Given the description of an element on the screen output the (x, y) to click on. 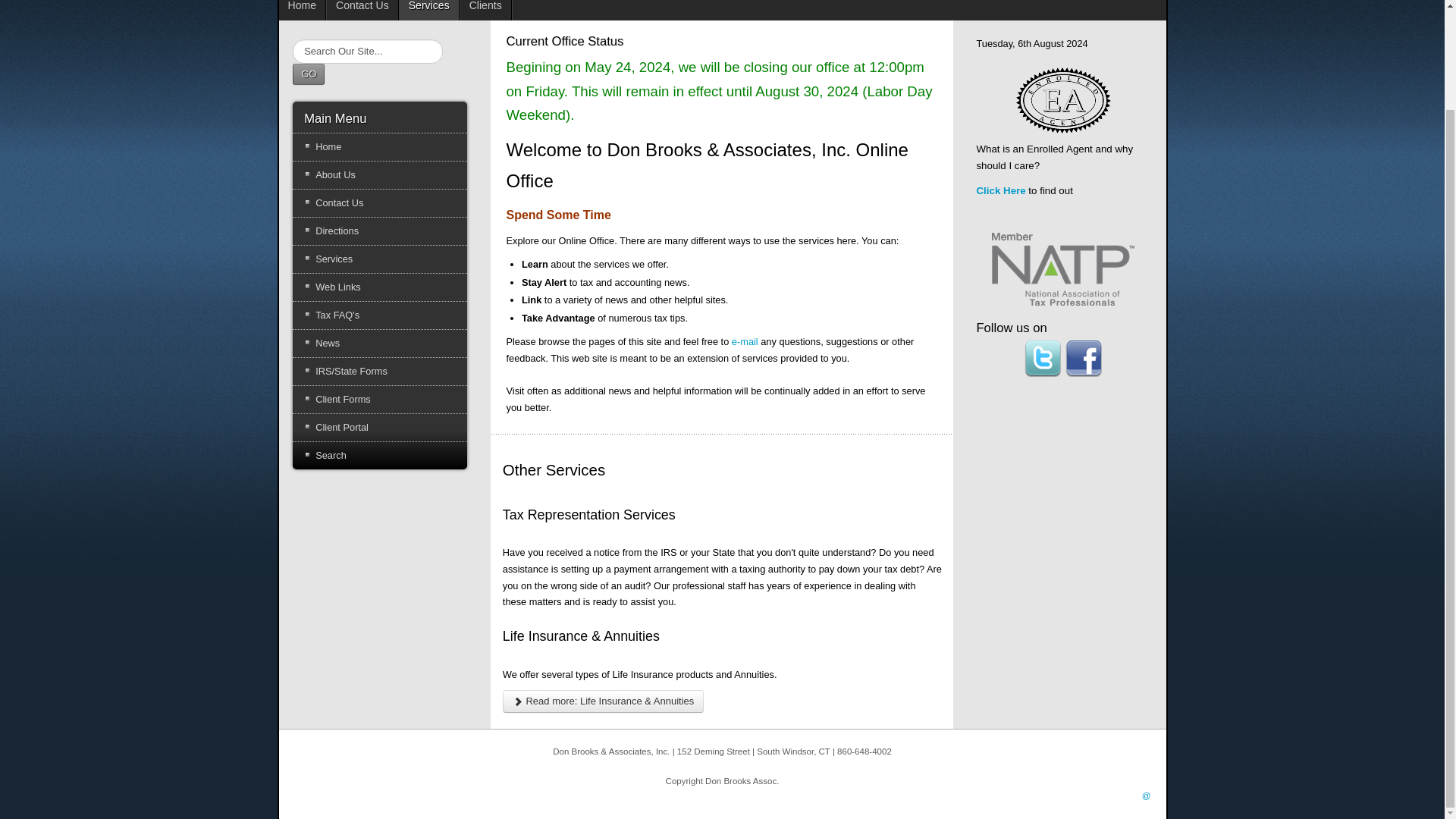
Follow us on Twitter (1043, 358)
Directions (379, 230)
Follow us on Facebook (1083, 358)
Search Our Site... (367, 51)
Clients (486, 10)
Services (429, 10)
Contact Us (362, 10)
Click Here (1000, 190)
Client Portal (379, 427)
Tax FAQ's (379, 315)
Home (379, 146)
Home (302, 10)
Services (379, 258)
About Us (379, 175)
Contact Us (379, 203)
